Given the description of an element on the screen output the (x, y) to click on. 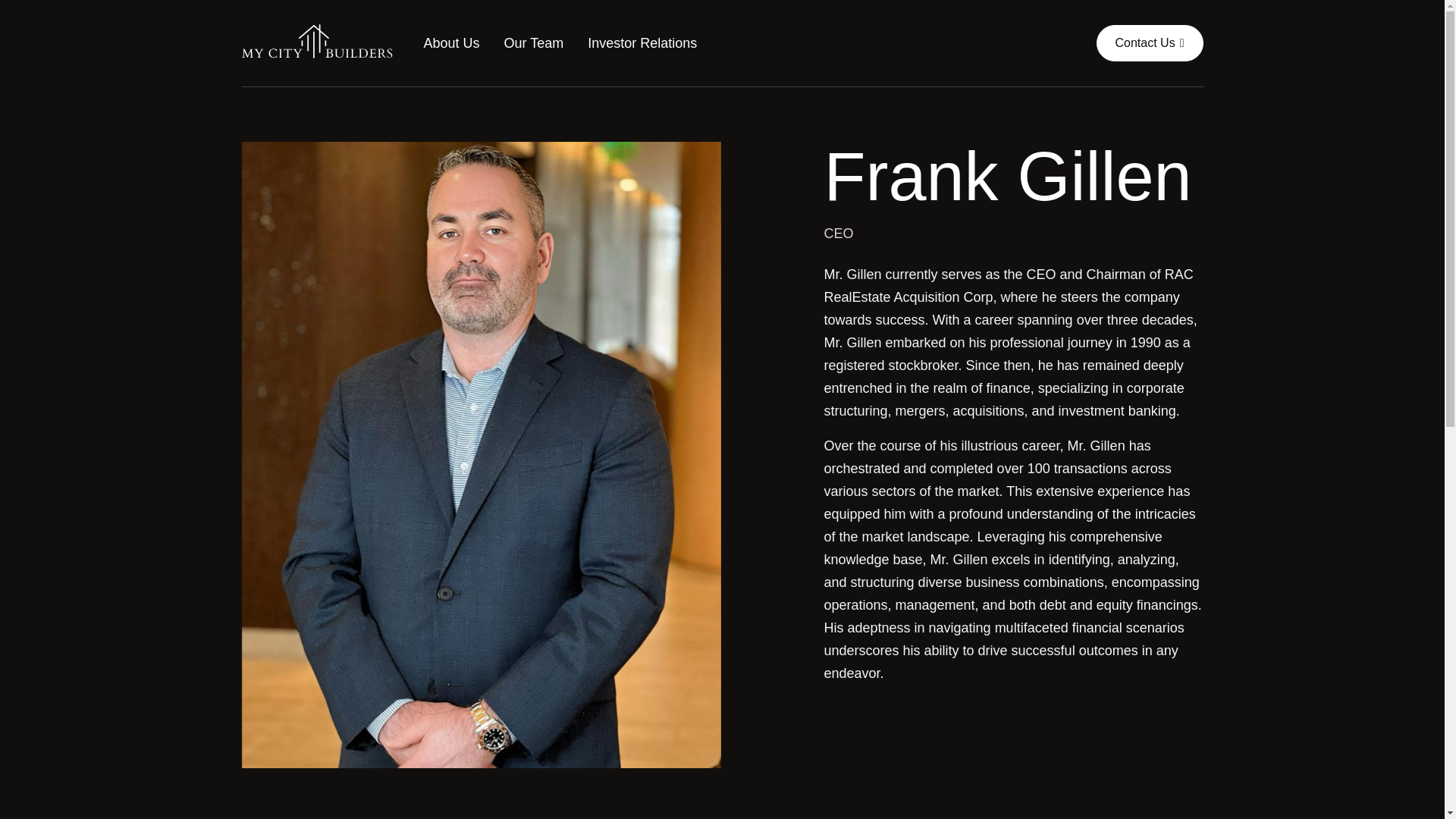
Investor Relations (642, 43)
About Us (451, 43)
Our Team (533, 43)
